Given the description of an element on the screen output the (x, y) to click on. 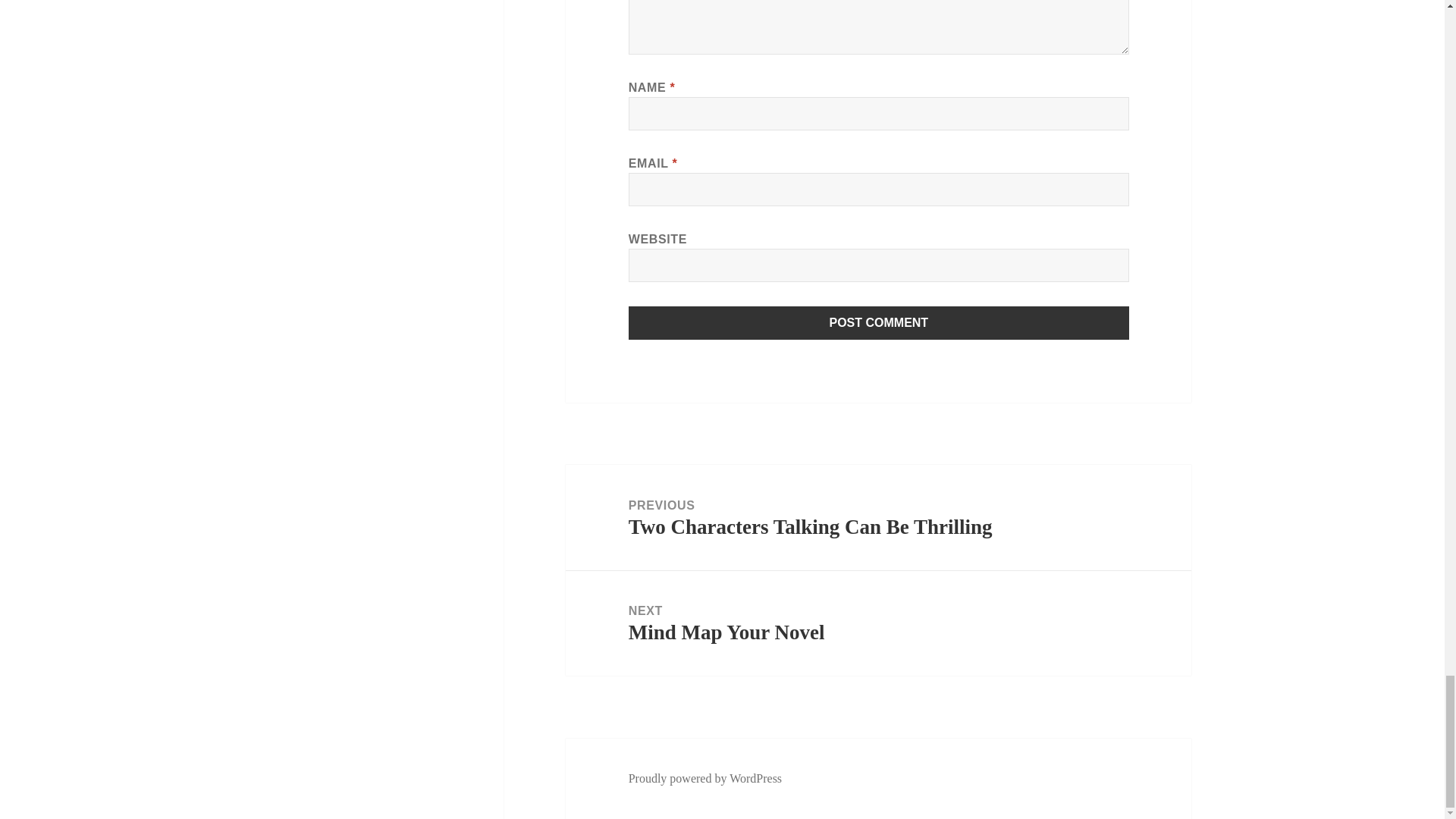
Post Comment (878, 322)
